Given the description of an element on the screen output the (x, y) to click on. 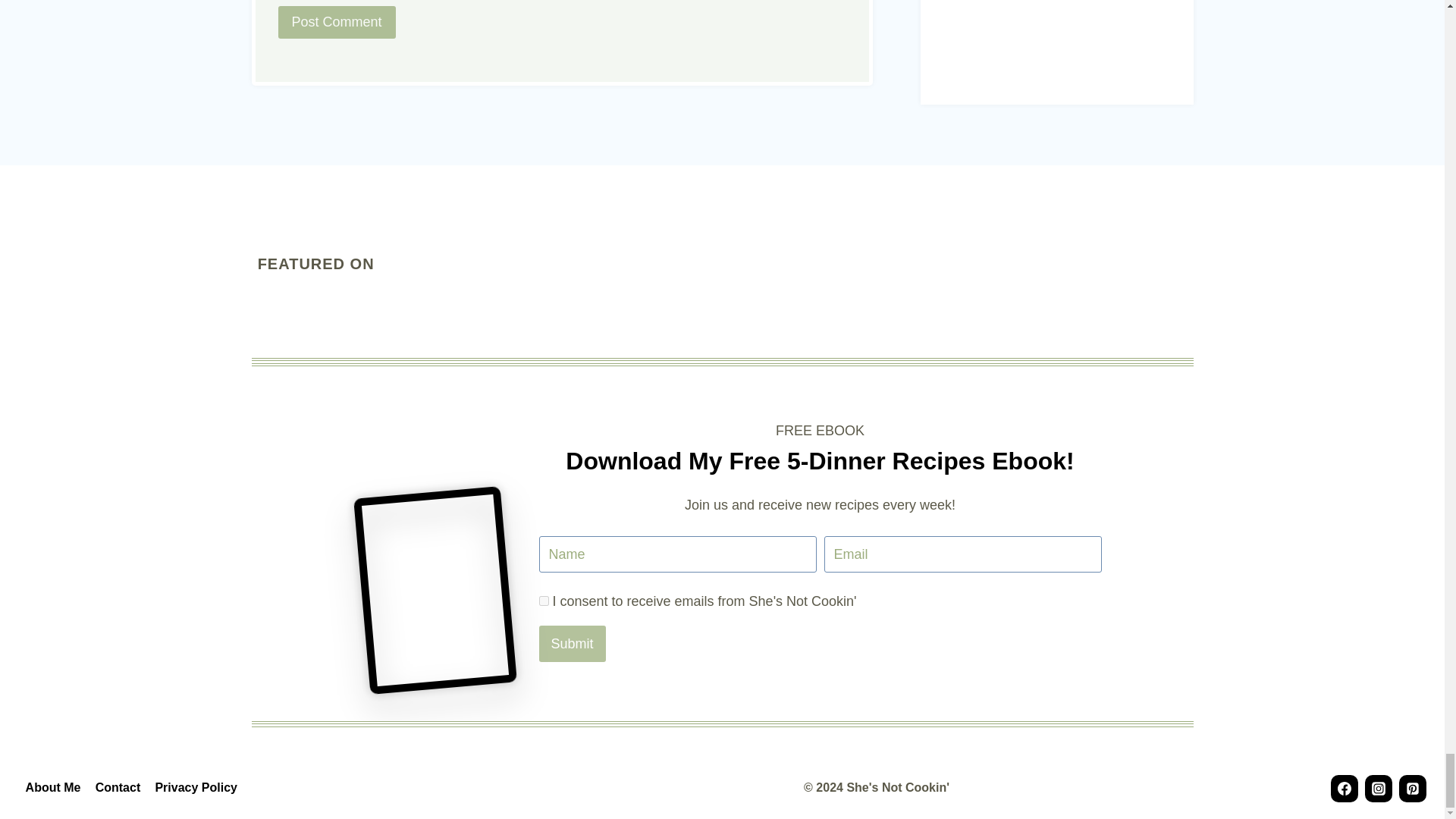
Post Comment (336, 21)
I consent to receive emails from She's Not Cookin' (543, 601)
